Given the description of an element on the screen output the (x, y) to click on. 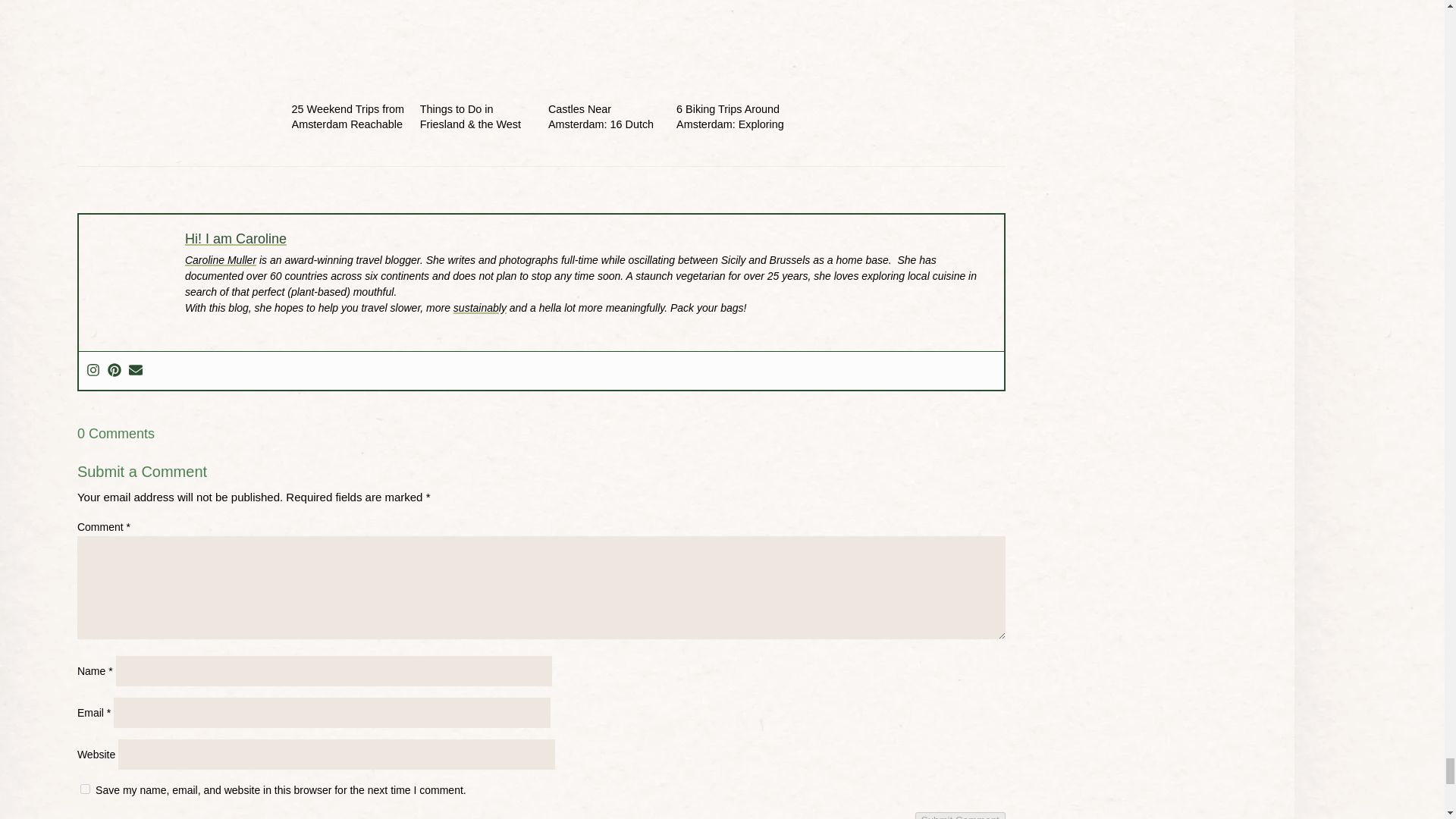
yes (85, 788)
